Given the description of an element on the screen output the (x, y) to click on. 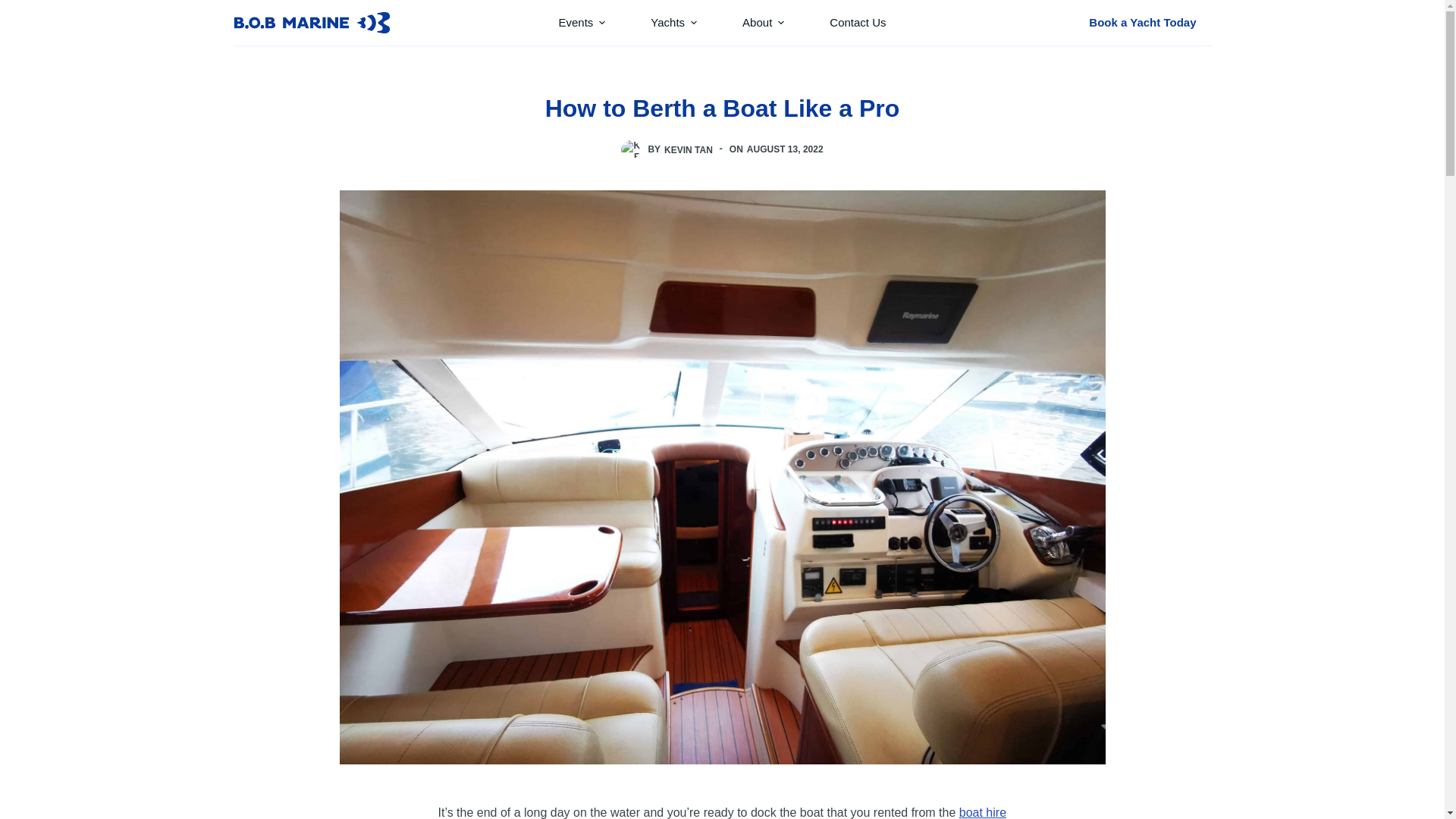
Contact Us (857, 22)
Skip to content (15, 7)
Events (581, 22)
How to Berth a Boat Like a Pro (722, 108)
Posts by Kevin Tan (688, 149)
About (762, 22)
Yachts (673, 22)
Book a Yacht Today (1142, 22)
